Given the description of an element on the screen output the (x, y) to click on. 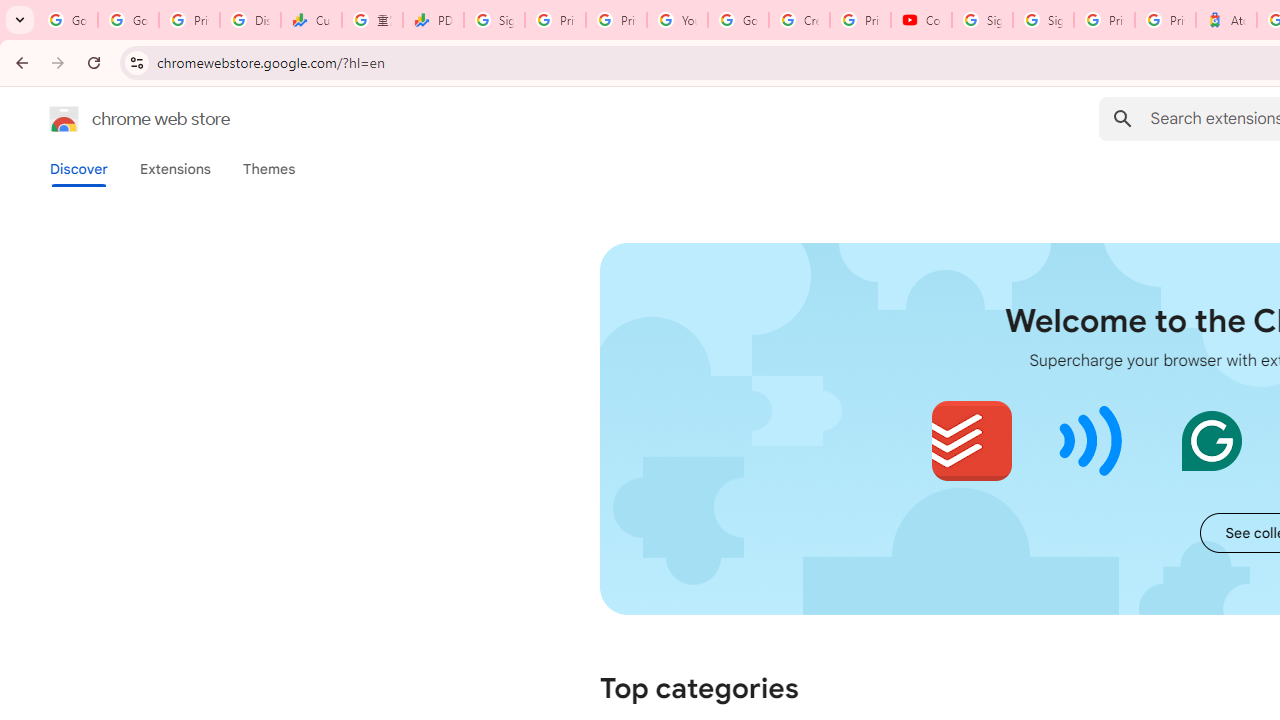
Discover (79, 169)
Volume Master (1091, 440)
Todoist for Chrome (971, 440)
Extensions (174, 169)
Sign in - Google Accounts (493, 20)
YouTube (676, 20)
